Given the description of an element on the screen output the (x, y) to click on. 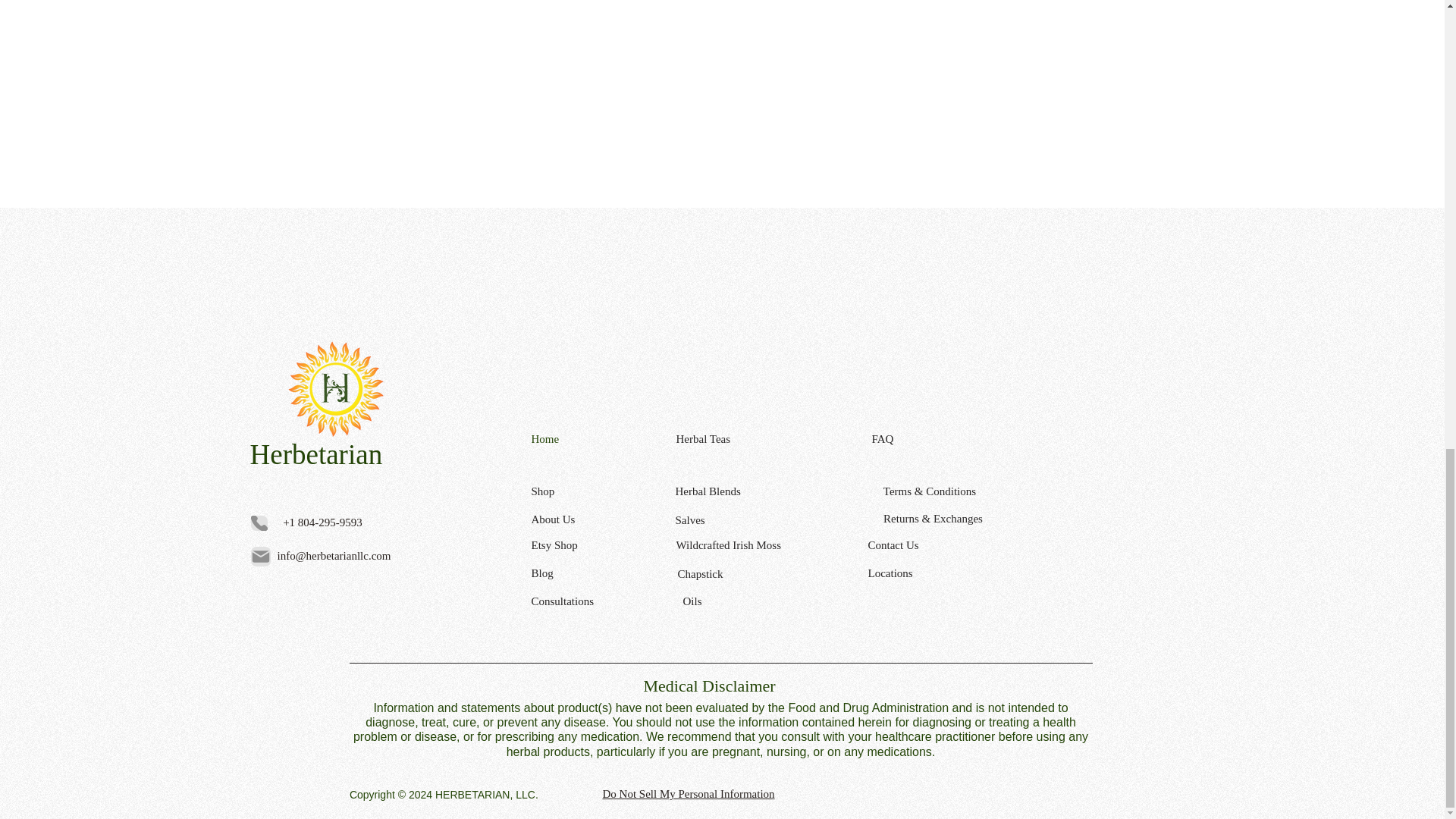
Blog (585, 573)
Home (585, 439)
About Us (585, 519)
Consultations (585, 601)
Herbal Teas (727, 438)
Herbetarian Health and Wellness Shop (335, 389)
Etsy Shop (585, 545)
Shop (585, 491)
